Given the description of an element on the screen output the (x, y) to click on. 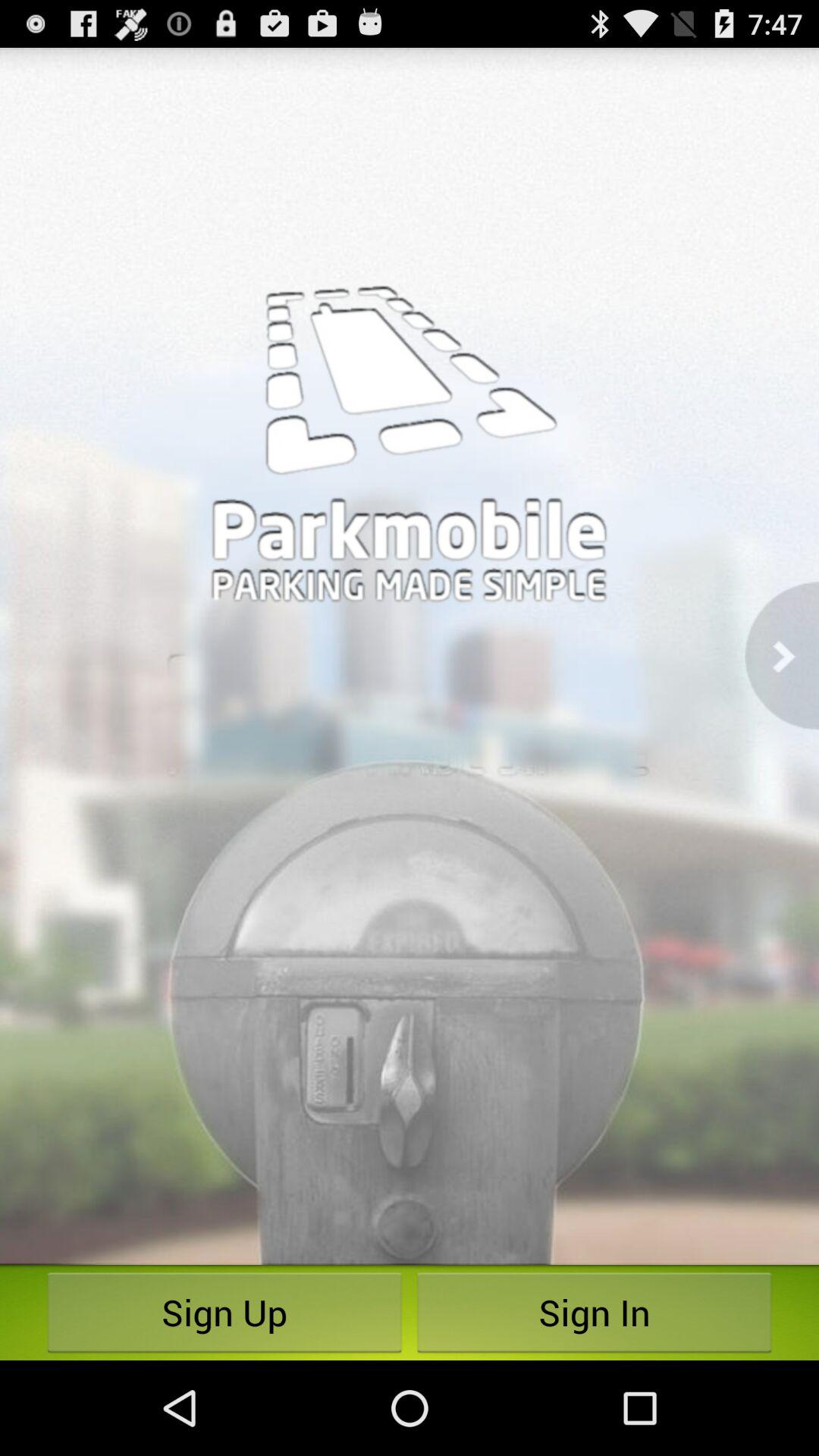
choose the icon to the right of the sign up (594, 1312)
